Given the description of an element on the screen output the (x, y) to click on. 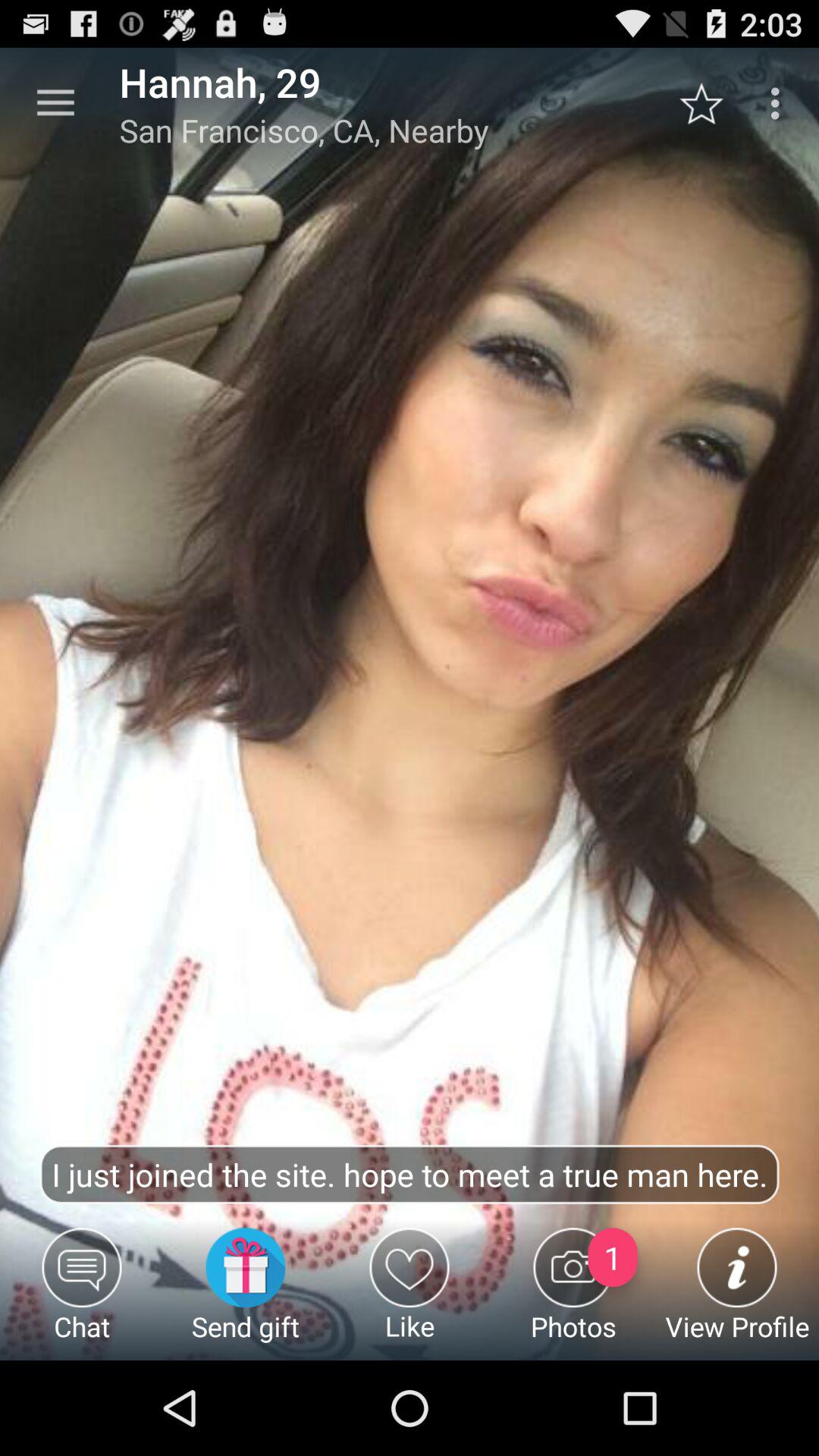
click icon to the left of the hannah, 29 app (55, 103)
